Given the description of an element on the screen output the (x, y) to click on. 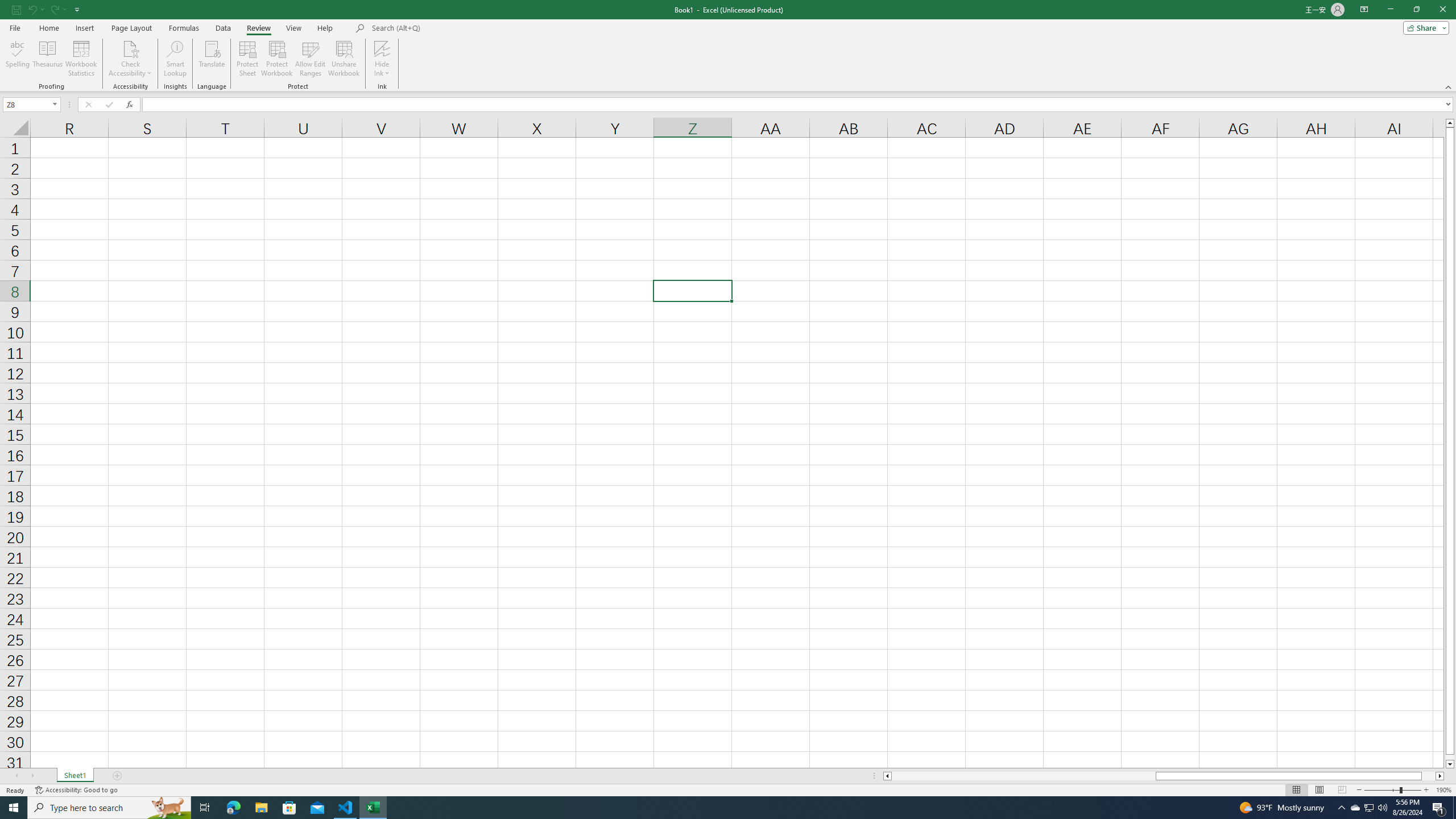
Column right (1440, 775)
Formula Bar (798, 104)
Restore Down (1416, 9)
Scroll Right (32, 775)
Translate (211, 58)
Zoom (1392, 790)
Thesaurus... (47, 58)
